Given the description of an element on the screen output the (x, y) to click on. 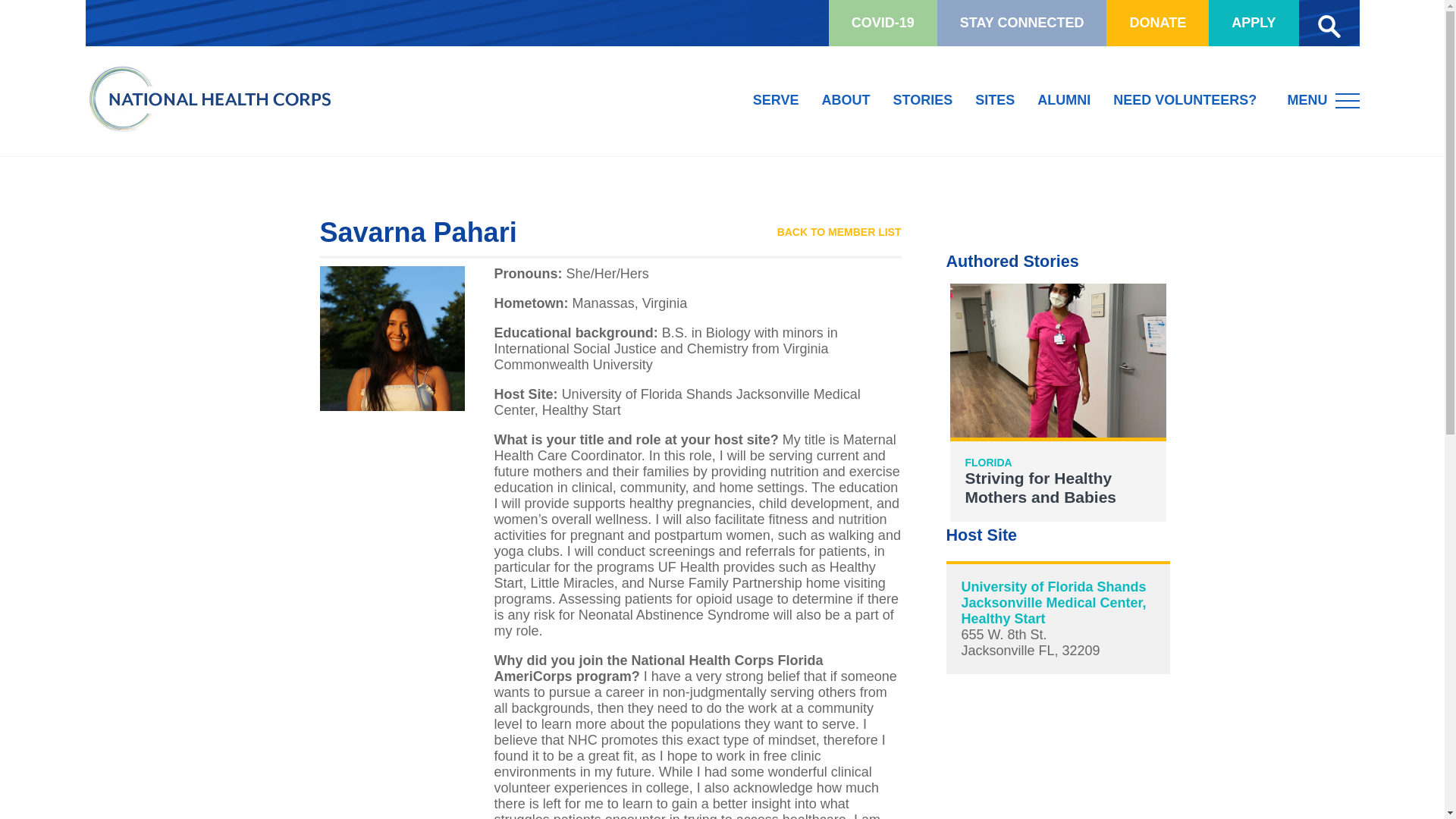
MENU (1323, 99)
ALUMNI (1057, 402)
Skip to main content (1064, 100)
NEED VOLUNTEERS? (775, 100)
DONATE (1185, 100)
BACK TO MEMBER LIST (1157, 22)
STORIES (839, 232)
